Given the description of an element on the screen output the (x, y) to click on. 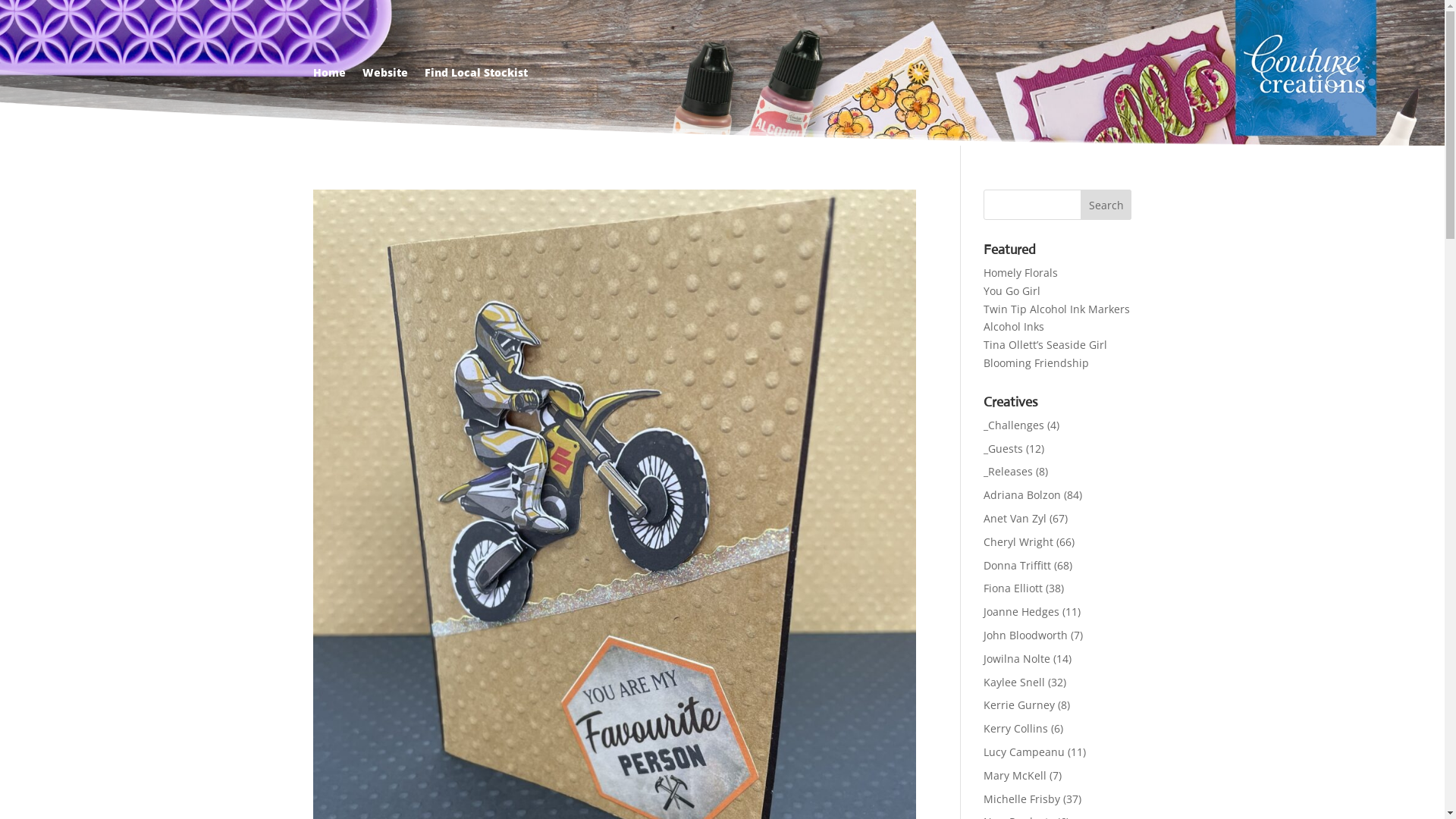
_Guests Element type: text (1002, 448)
Joanne Hedges Element type: text (1021, 611)
_Challenges Element type: text (1013, 424)
Website Element type: text (384, 75)
Lucy Campeanu Element type: text (1023, 751)
Kerrie Gurney Element type: text (1018, 704)
Home Element type: text (328, 75)
You Go Girl Element type: text (1011, 290)
Fiona Elliott Element type: text (1012, 587)
Blooming Friendship Element type: text (1035, 362)
Search Element type: text (1106, 204)
Donna Triffitt Element type: text (1017, 565)
Anet Van Zyl Element type: text (1014, 518)
Kaylee Snell Element type: text (1013, 681)
_Releases Element type: text (1007, 471)
Homely Florals Element type: text (1020, 272)
Find Local Stockist Element type: text (475, 75)
Jowilna Nolte Element type: text (1016, 658)
Twin Tip Alcohol Ink Markers Element type: text (1056, 308)
Alcohol Inks Element type: text (1013, 326)
John Bloodworth Element type: text (1025, 634)
Cheryl Wright Element type: text (1018, 541)
Mary McKell Element type: text (1014, 775)
Michelle Frisby Element type: text (1021, 798)
Kerry Collins Element type: text (1015, 728)
Adriana Bolzon Element type: text (1021, 494)
